Given the description of an element on the screen output the (x, y) to click on. 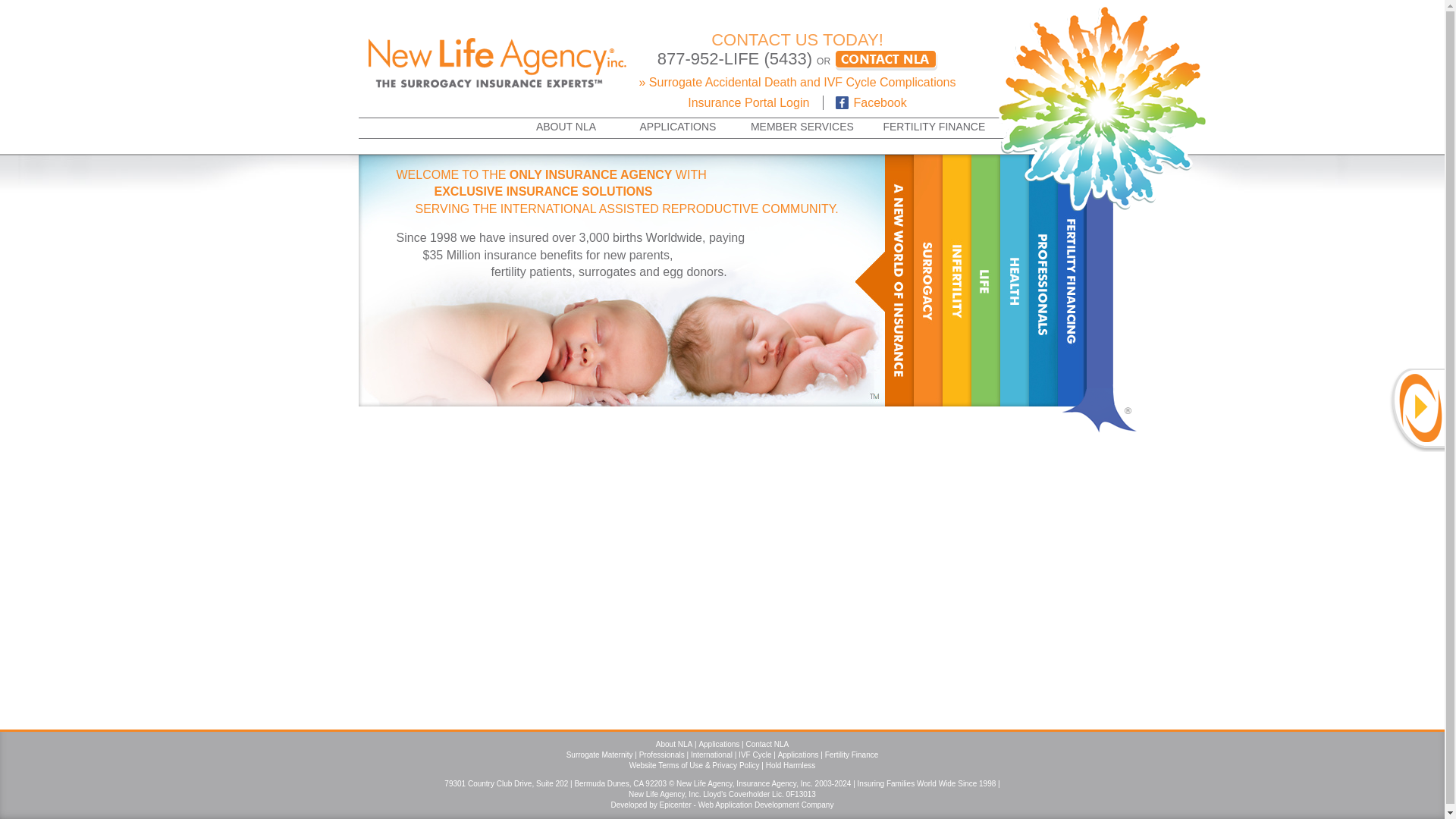
Facebook (863, 102)
Contact NLA (767, 744)
About NLA (674, 744)
Fertility Finance (852, 755)
READ MORE... (825, 379)
FERTILITY FINANCE (933, 127)
IVF Cycle (754, 755)
Applications (797, 755)
READ MORE... (828, 387)
Web Application Development Company (766, 804)
APPLICATIONS (677, 127)
READ MORE... (842, 350)
READ MORE... (803, 256)
MEMBER SERVICES (801, 127)
Professionals (661, 755)
